Given the description of an element on the screen output the (x, y) to click on. 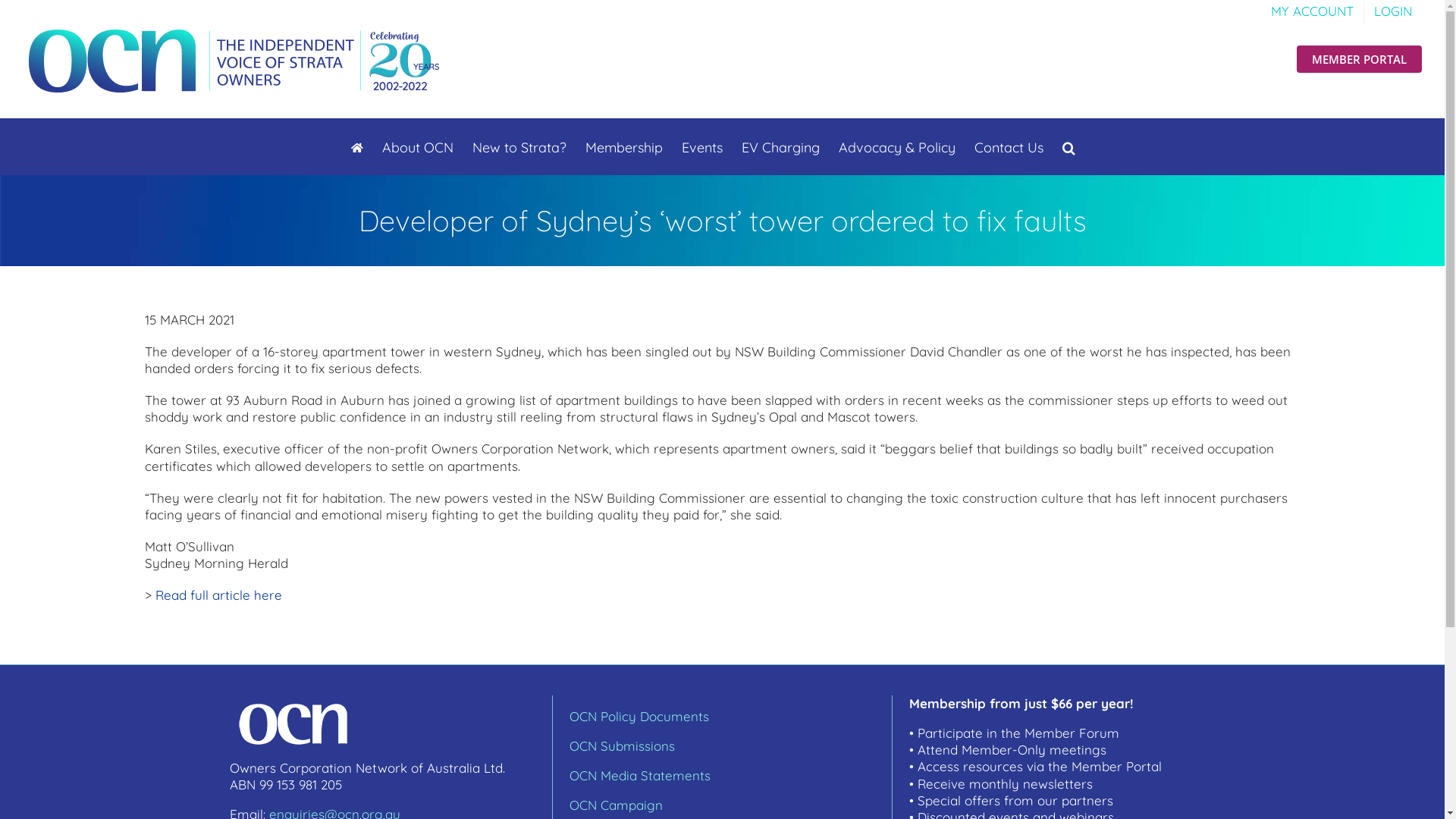
LOGIN Element type: text (1392, 11)
OCN Policy Documents Element type: text (638, 716)
EV Charging Element type: text (780, 146)
Read full article here Element type: text (217, 594)
MEMBER PORTAL Element type: text (1358, 58)
Membership Element type: text (623, 146)
Events Element type: text (700, 146)
About OCN Element type: text (417, 146)
Advocacy & Policy Element type: text (896, 146)
New to Strata? Element type: text (518, 146)
MY ACCOUNT Element type: text (1312, 11)
OCN Campaign Element type: text (615, 804)
OCN Media Statements Element type: text (638, 775)
OCN Submissions Element type: text (621, 745)
Search Element type: hover (1067, 146)
Contact Us Element type: text (1007, 146)
